Given the description of an element on the screen output the (x, y) to click on. 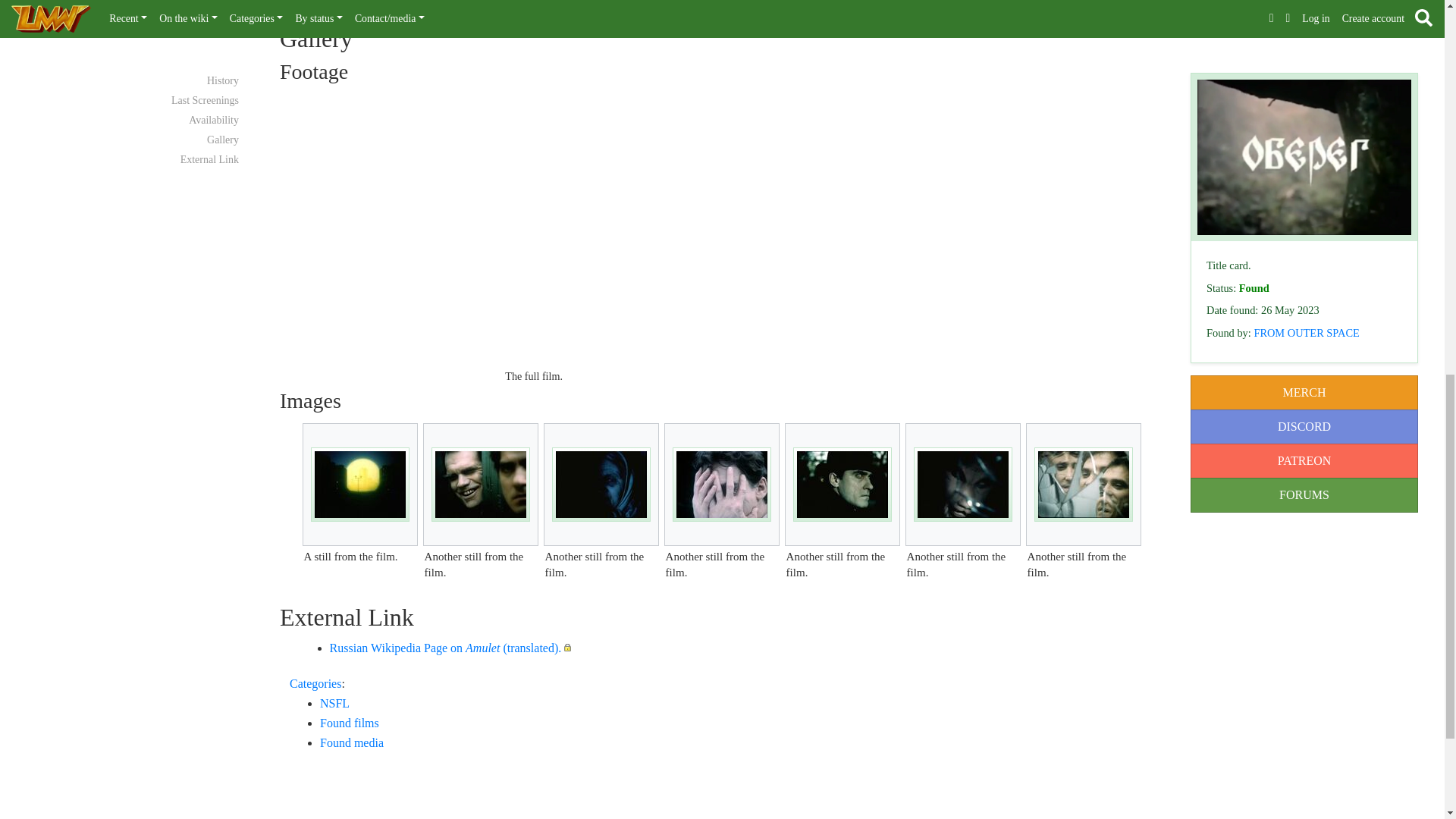
Category:NSFL (334, 703)
Another still from the film. (963, 484)
Another still from the film. (842, 484)
Category:Found films (349, 722)
Another still from the film. (601, 484)
Special:Categories (314, 683)
Another still from the film. (722, 484)
A still from the film. (360, 484)
Another still from the film. (1083, 484)
Another still from the film. (480, 484)
